Given the description of an element on the screen output the (x, y) to click on. 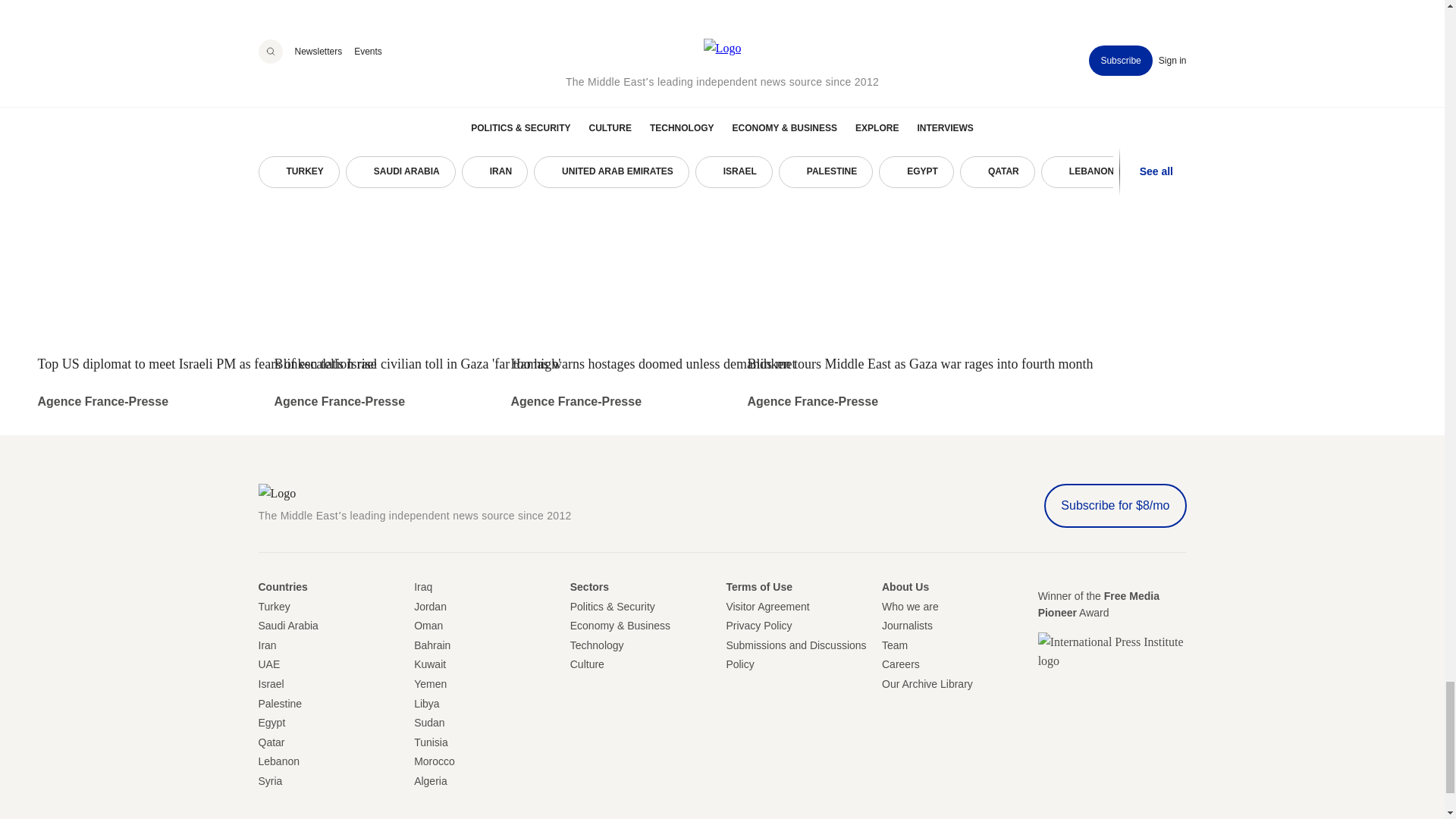
United Arab Amirates (268, 664)
